Given the description of an element on the screen output the (x, y) to click on. 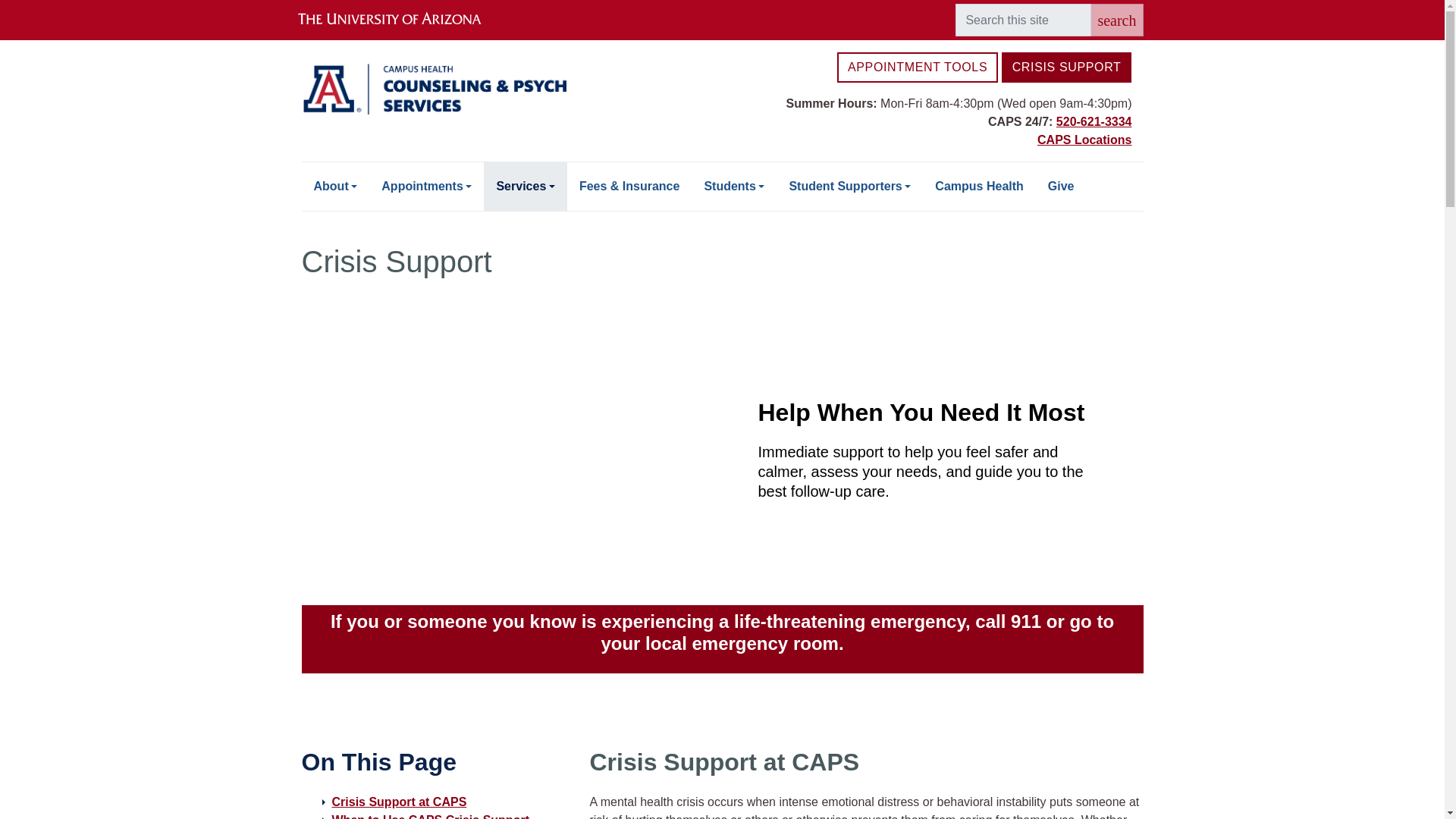
Appointments (426, 186)
The University of Arizona homepage (401, 20)
Skip to main content (721, 1)
APPOINTMENT TOOLS (917, 67)
CAPS Locations (1083, 139)
CRISIS SUPPORT (1066, 67)
Services (524, 186)
search (1116, 20)
520-621-3334 (1094, 121)
Students (733, 186)
About (335, 186)
Enter the terms you wish to search for. (1022, 20)
